Given the description of an element on the screen output the (x, y) to click on. 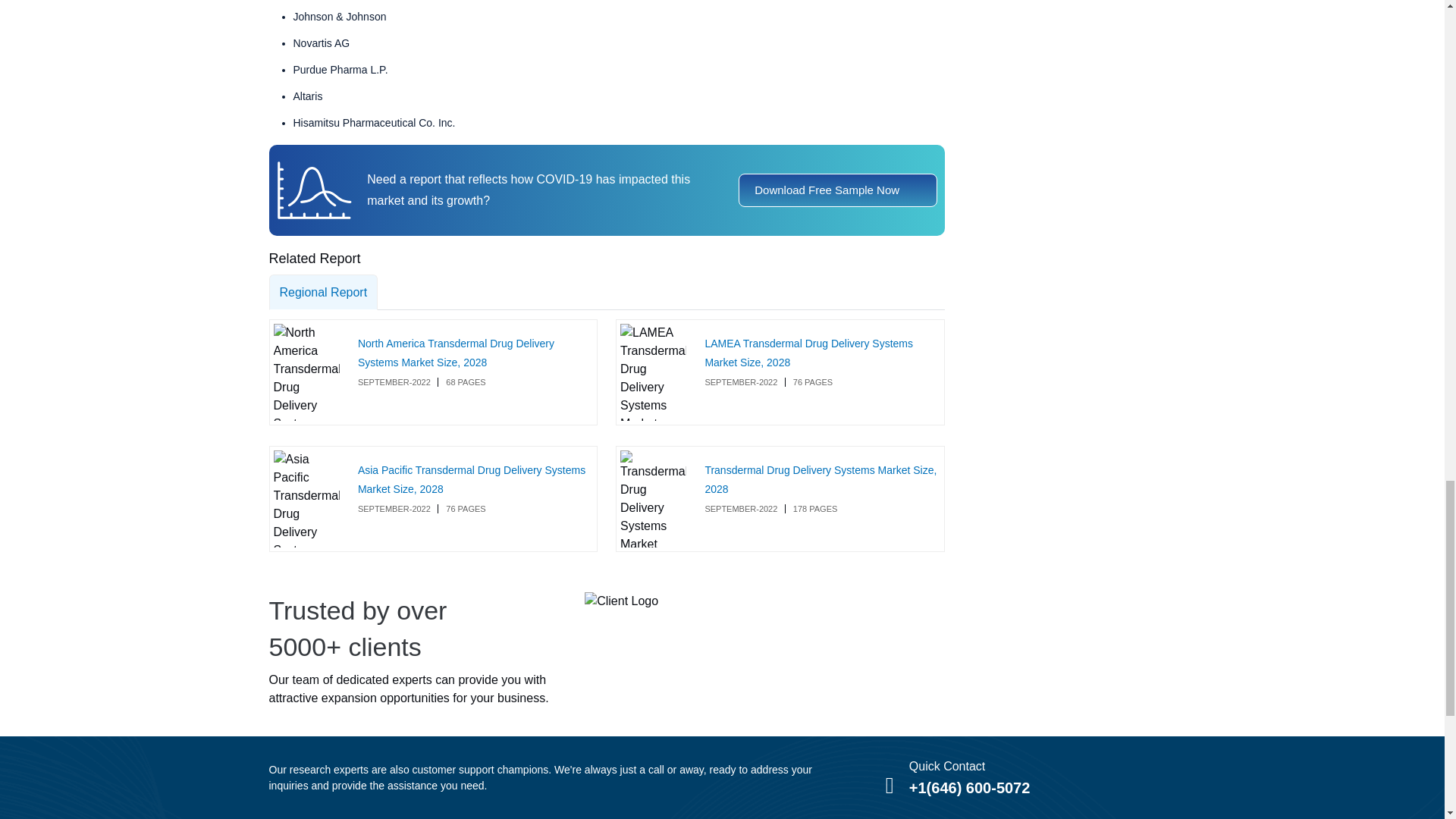
Transdermal Drug Delivery Systems Market Size, 2028 (820, 479)
LAMEA Transdermal Drug Delivery Systems Market Size, 2028 (808, 352)
Client Logo (621, 601)
